Given the description of an element on the screen output the (x, y) to click on. 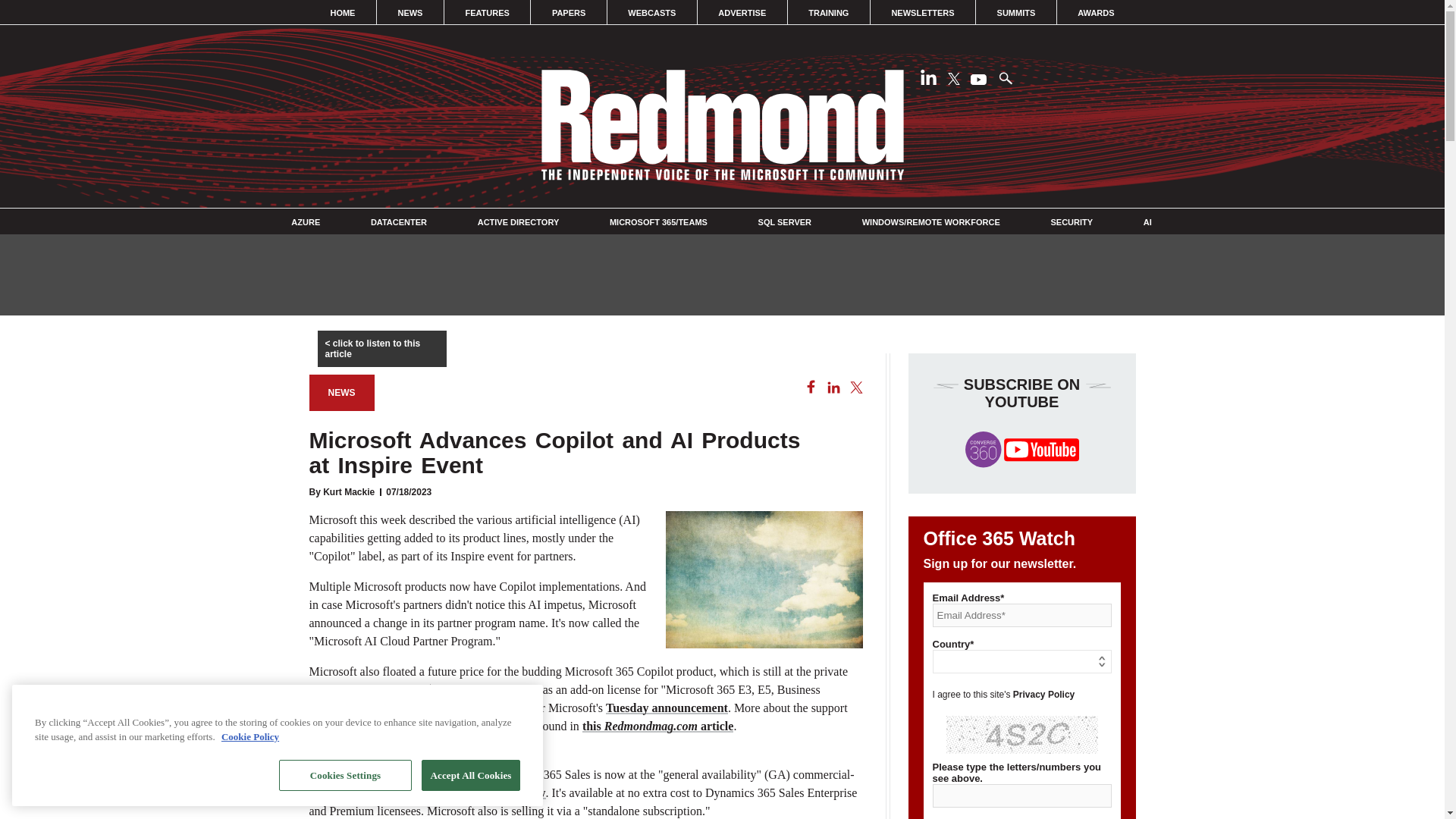
SQL SERVER (785, 221)
3rd party ad content (721, 273)
Tuesday announcement (666, 707)
PAPERS (568, 12)
SUMMITS (1015, 12)
AI (1146, 221)
announced on Tuesday (487, 792)
WEBCASTS (651, 12)
this Redmondmag.com article (657, 725)
ADVERTISE (742, 12)
HOME (342, 12)
Kurt Mackie (348, 491)
FEATURES (487, 12)
NEWS (341, 392)
TRAINING (829, 12)
